Given the description of an element on the screen output the (x, y) to click on. 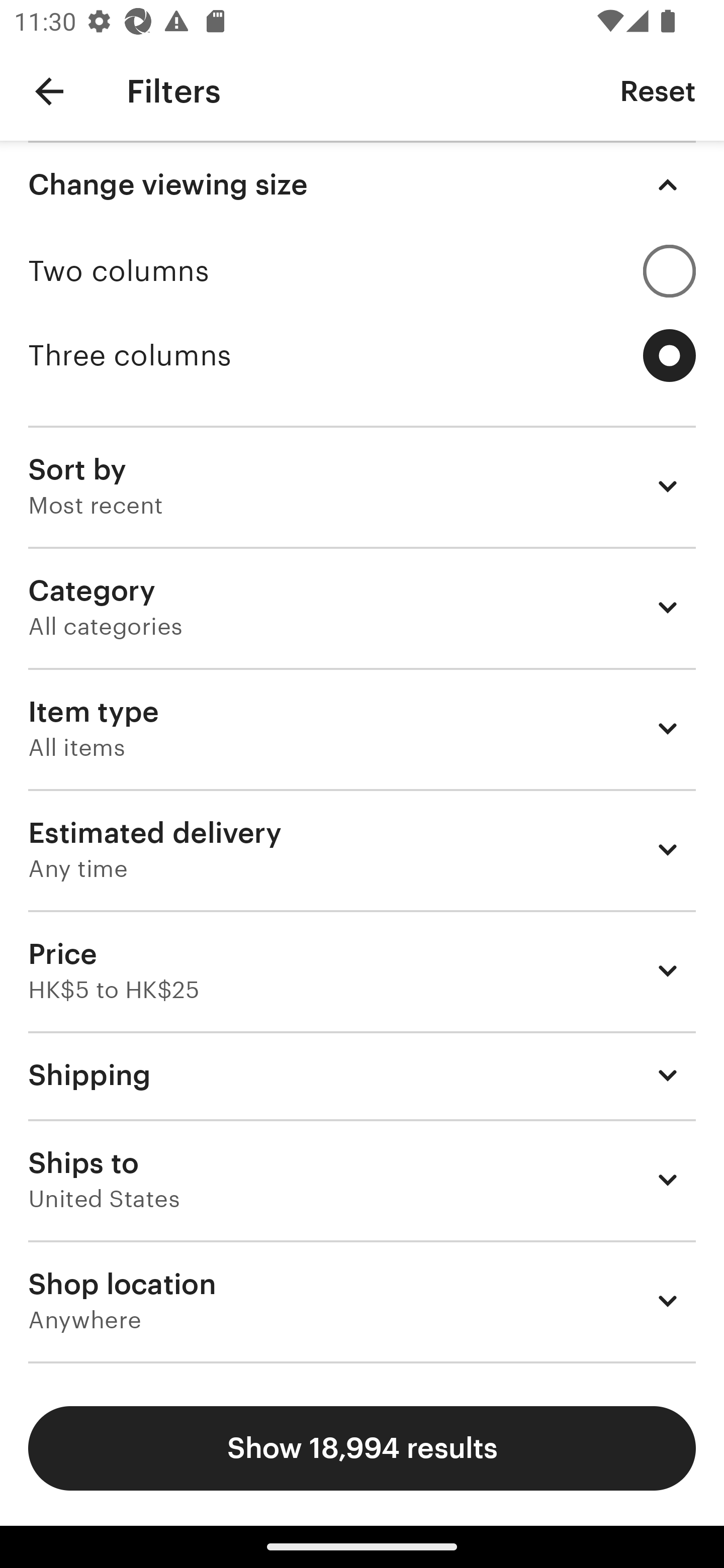
Navigate up (49, 91)
Reset (657, 90)
Change viewing size (362, 184)
Two columns (362, 270)
Three columns (362, 355)
Sort by Most recent (362, 485)
Category All categories (362, 607)
Item type All items (362, 727)
Estimated delivery Any time (362, 848)
Price HK$5 to HK$25 (362, 970)
Shipping (362, 1075)
Ships to United States (362, 1179)
Shop location Anywhere (362, 1300)
Show 18,994 results Show results (361, 1448)
